Given the description of an element on the screen output the (x, y) to click on. 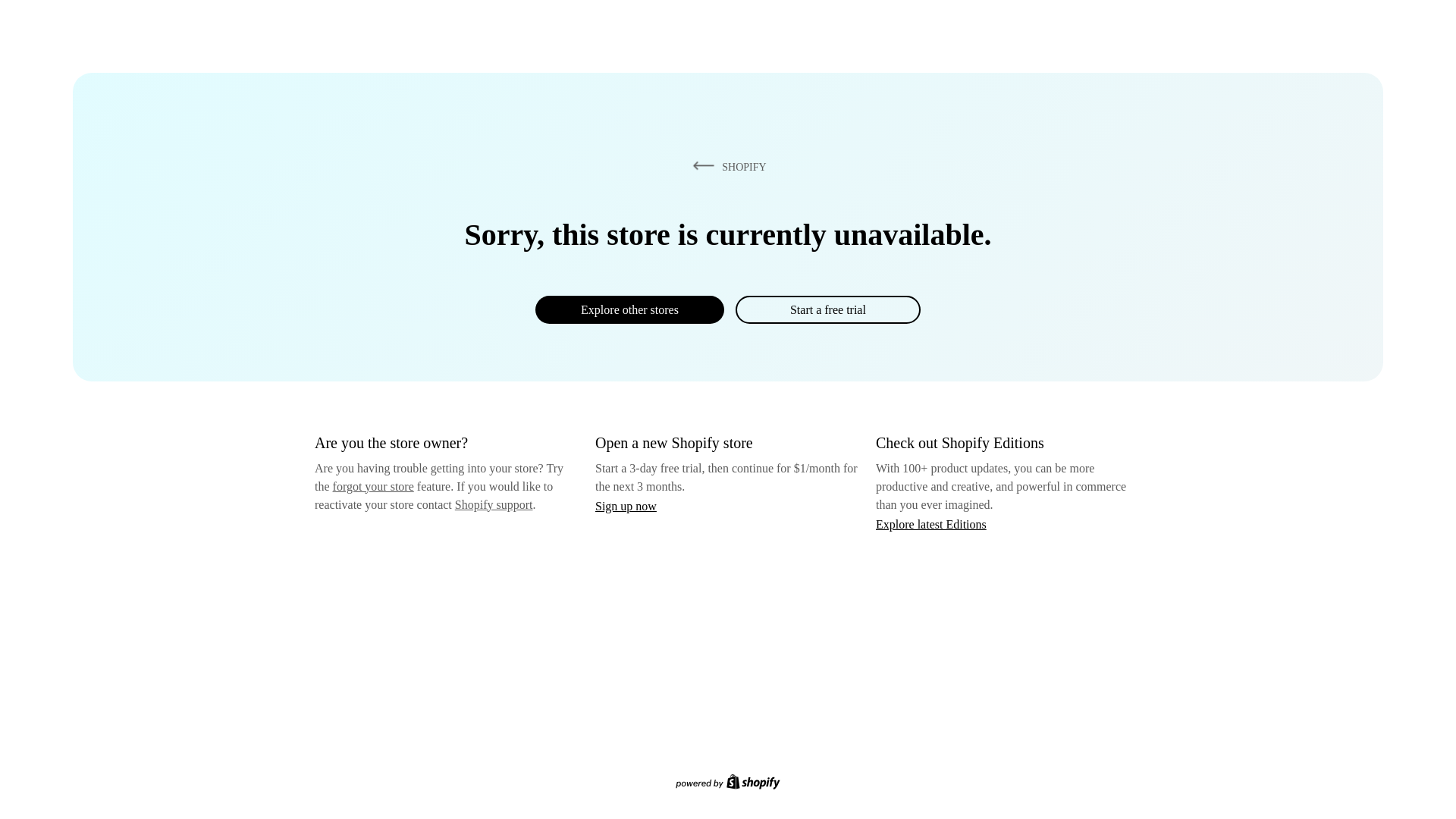
SHOPIFY (726, 166)
Start a free trial (827, 309)
Shopify support (493, 504)
forgot your store (373, 486)
Explore other stores (629, 309)
Sign up now (625, 505)
Explore latest Editions (931, 523)
